Given the description of an element on the screen output the (x, y) to click on. 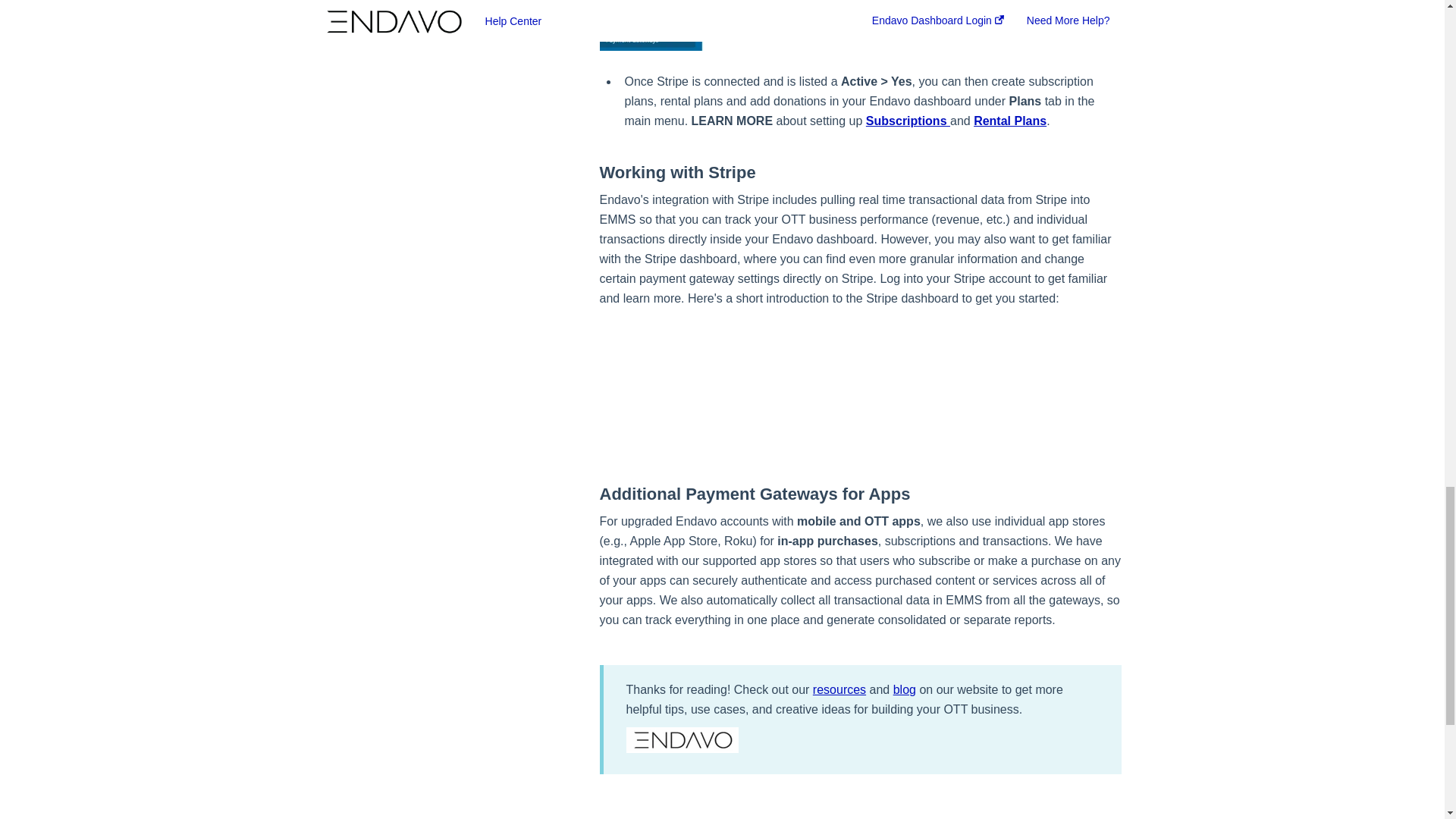
Subscriptions (908, 120)
blog (904, 689)
Rental Plans (1010, 120)
resources (839, 689)
